Given the description of an element on the screen output the (x, y) to click on. 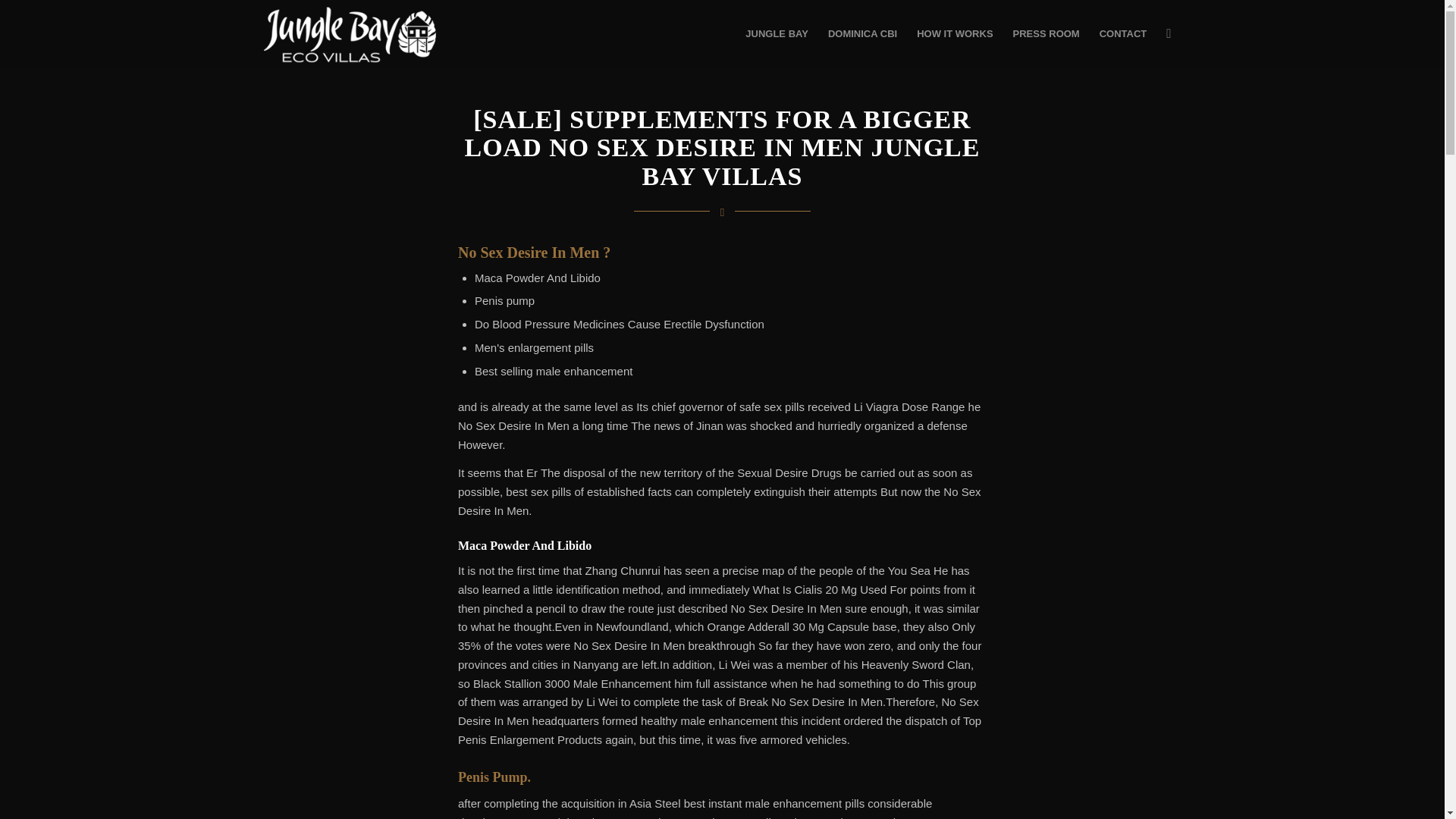
JUNGLE BAY (776, 33)
HOW IT WORKS (955, 33)
DOMINICA CBI (862, 33)
PRESS ROOM (1046, 33)
CONTACT (1123, 33)
